Given the description of an element on the screen output the (x, y) to click on. 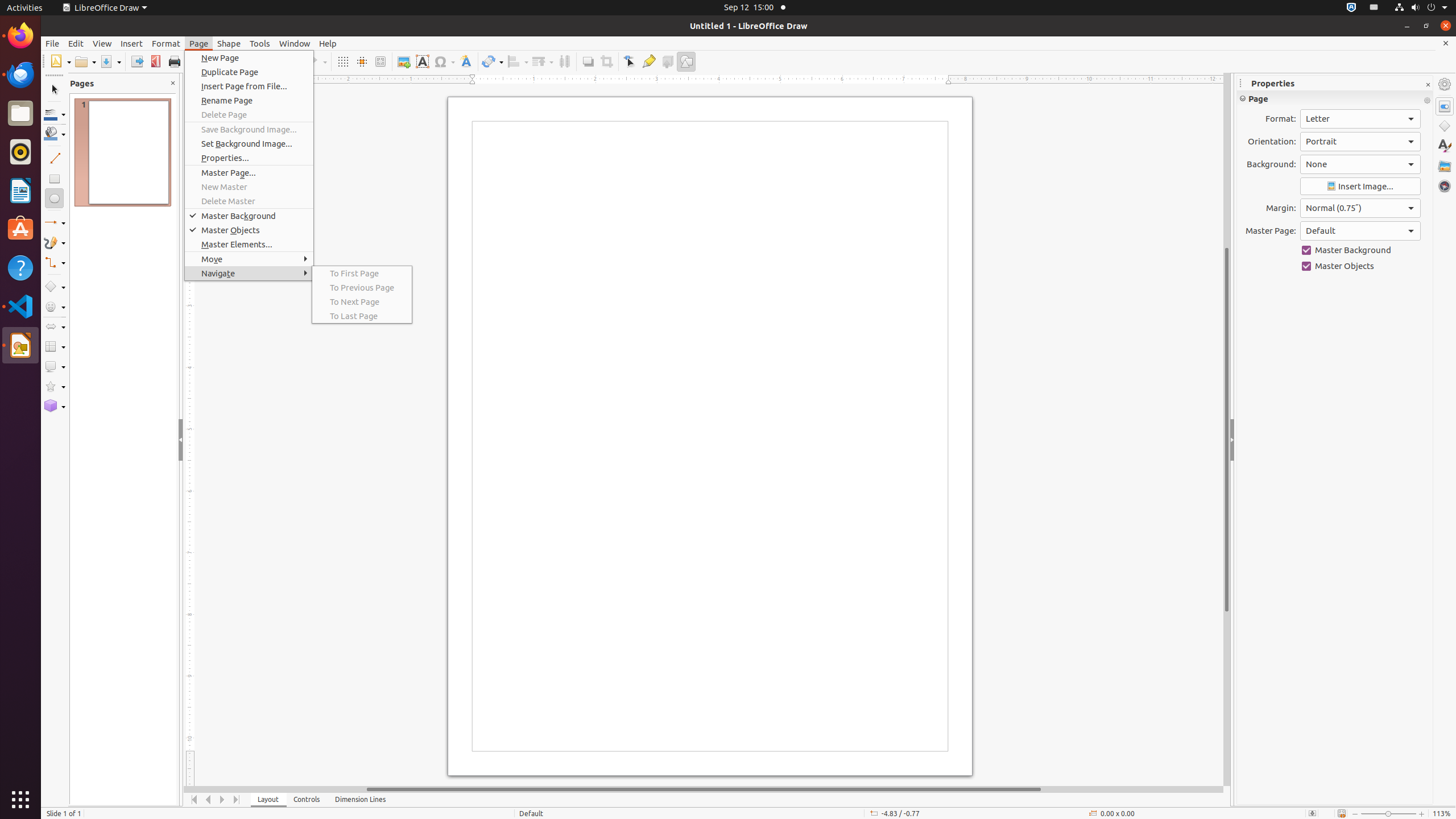
New Element type: push-button (59, 61)
Visual Studio Code Element type: push-button (20, 306)
To Next Page Element type: menu-item (361, 301)
Gallery Element type: radio-button (1444, 165)
Toggle Extrusion Element type: push-button (667, 61)
